Given the description of an element on the screen output the (x, y) to click on. 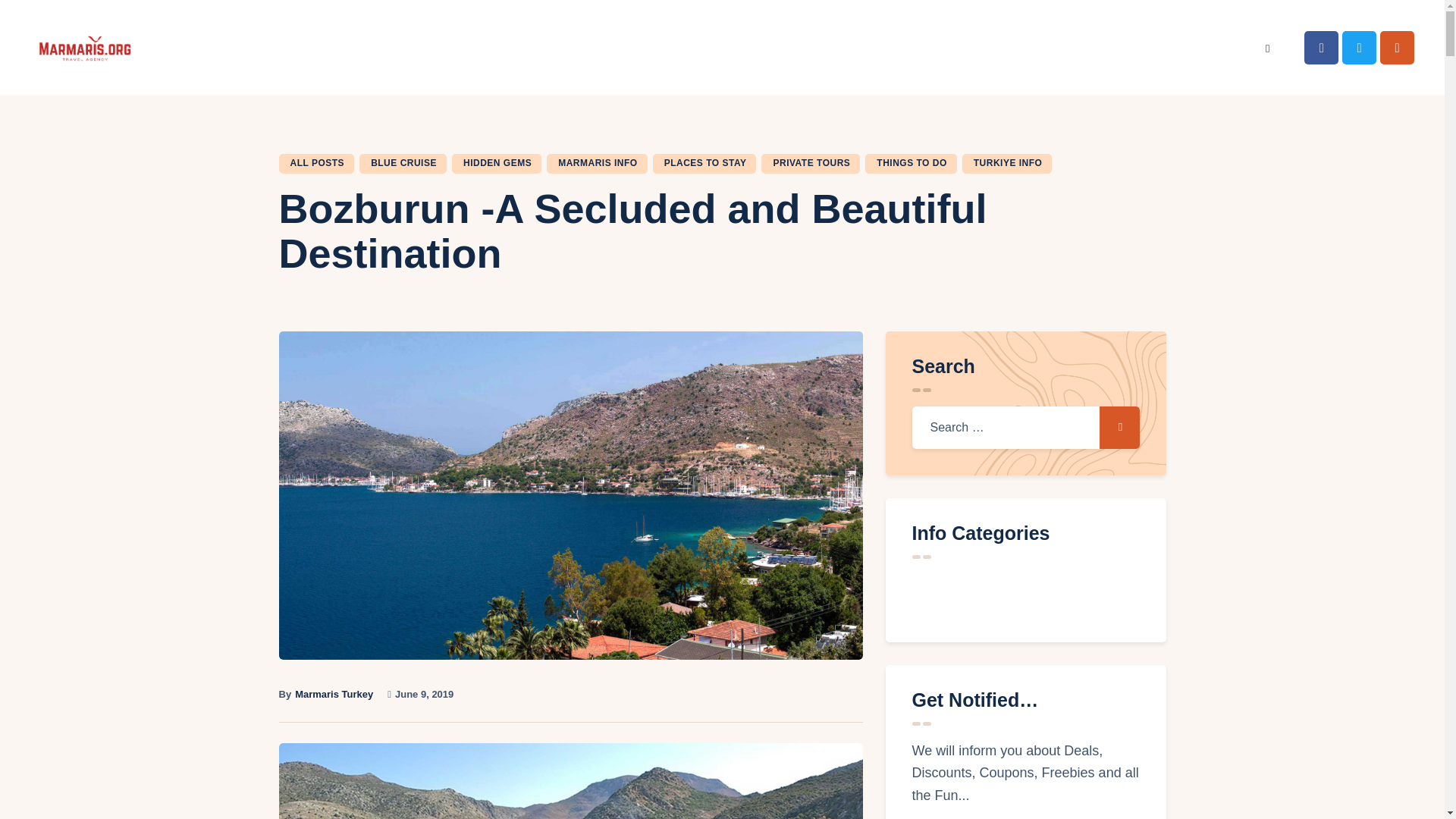
PRIVATE TOURS (810, 163)
TURKIYE INFO (1007, 163)
BLUE CRUISE (402, 163)
THINGS TO DO (910, 163)
Search (1119, 427)
Search (1119, 427)
HIDDEN GEMS (496, 163)
MARMARIS INFO (597, 163)
ALL POSTS (317, 163)
PLACES TO STAY (704, 163)
